Given the description of an element on the screen output the (x, y) to click on. 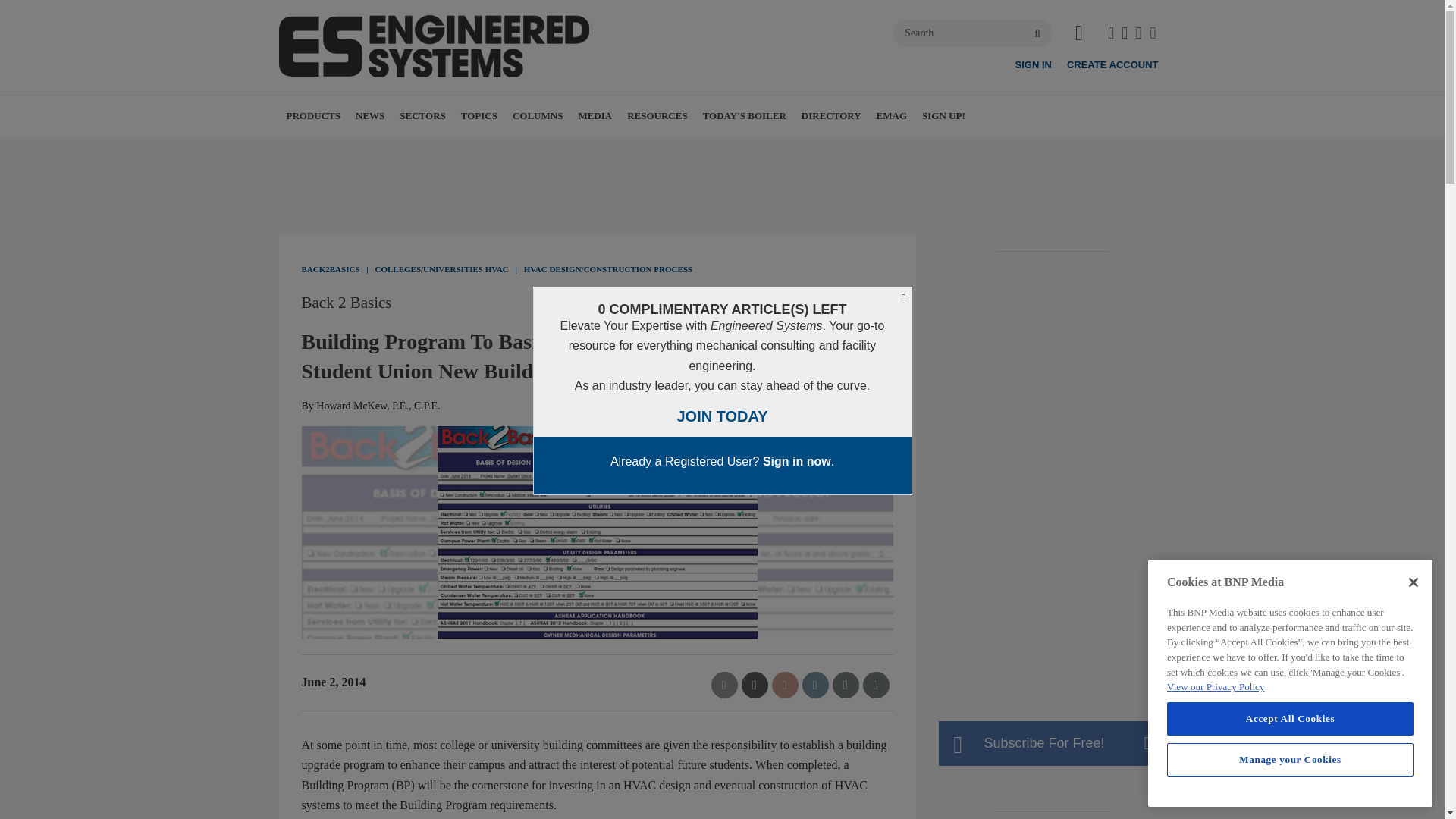
Search (972, 32)
Search (972, 32)
